Given the description of an element on the screen output the (x, y) to click on. 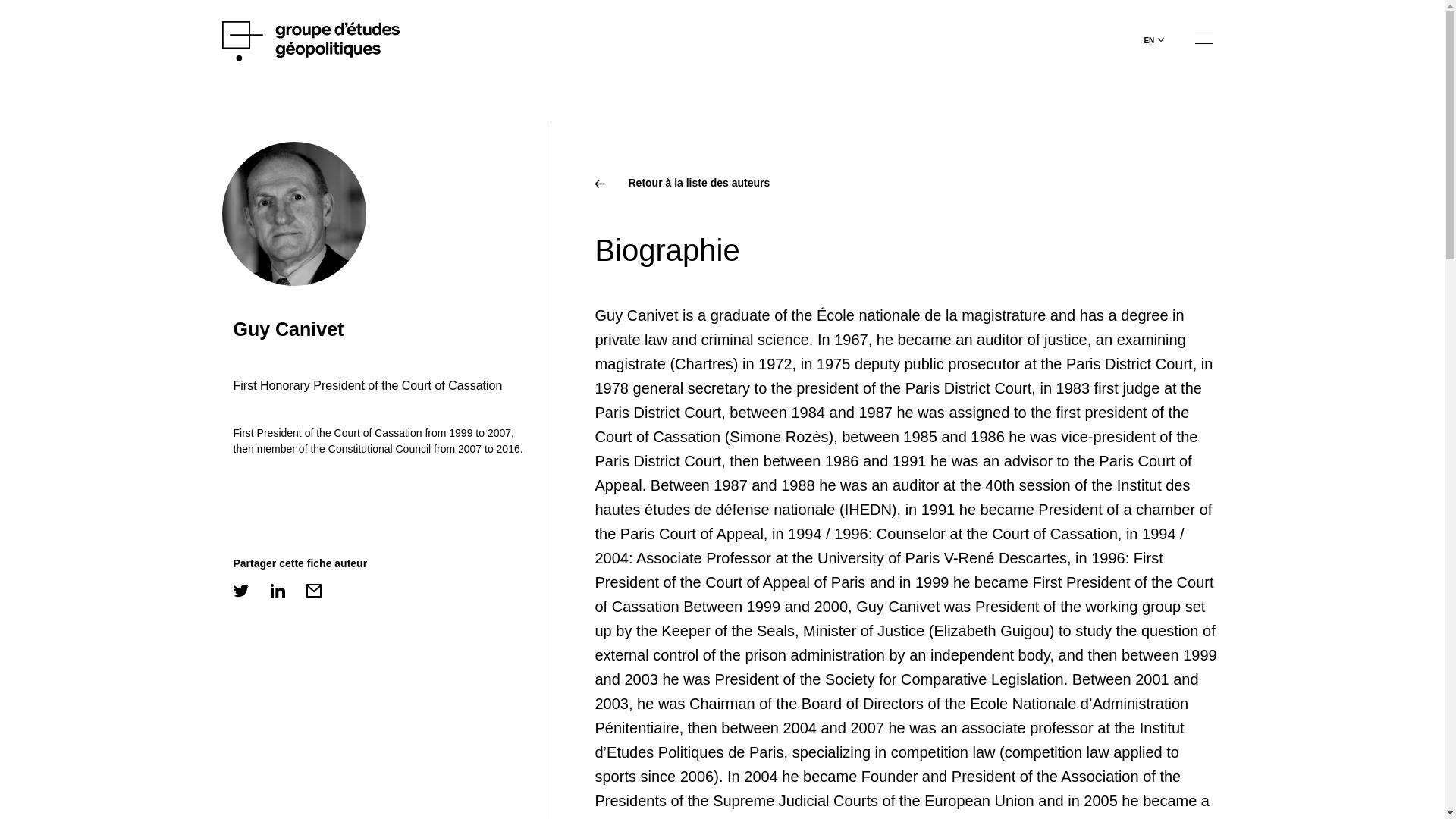
Guy Canivet (287, 328)
Twitter (240, 589)
Email (313, 589)
Linkedin (277, 589)
